Given the description of an element on the screen output the (x, y) to click on. 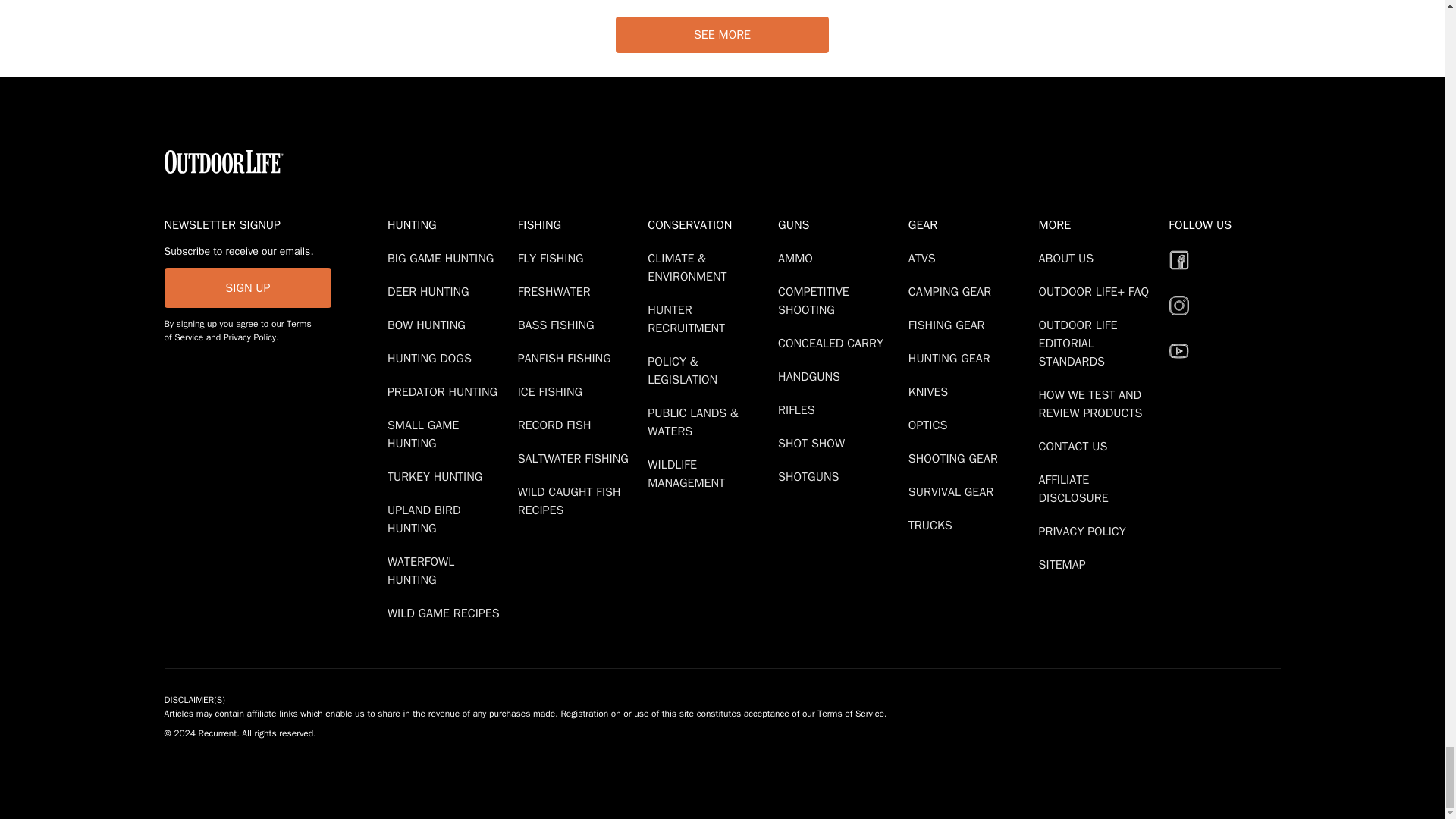
Fly Fishing (553, 258)
Hunting (449, 225)
Conservation (709, 225)
Big Game Hunting (443, 258)
Deer Hunting (431, 291)
Fishing (580, 225)
